Given the description of an element on the screen output the (x, y) to click on. 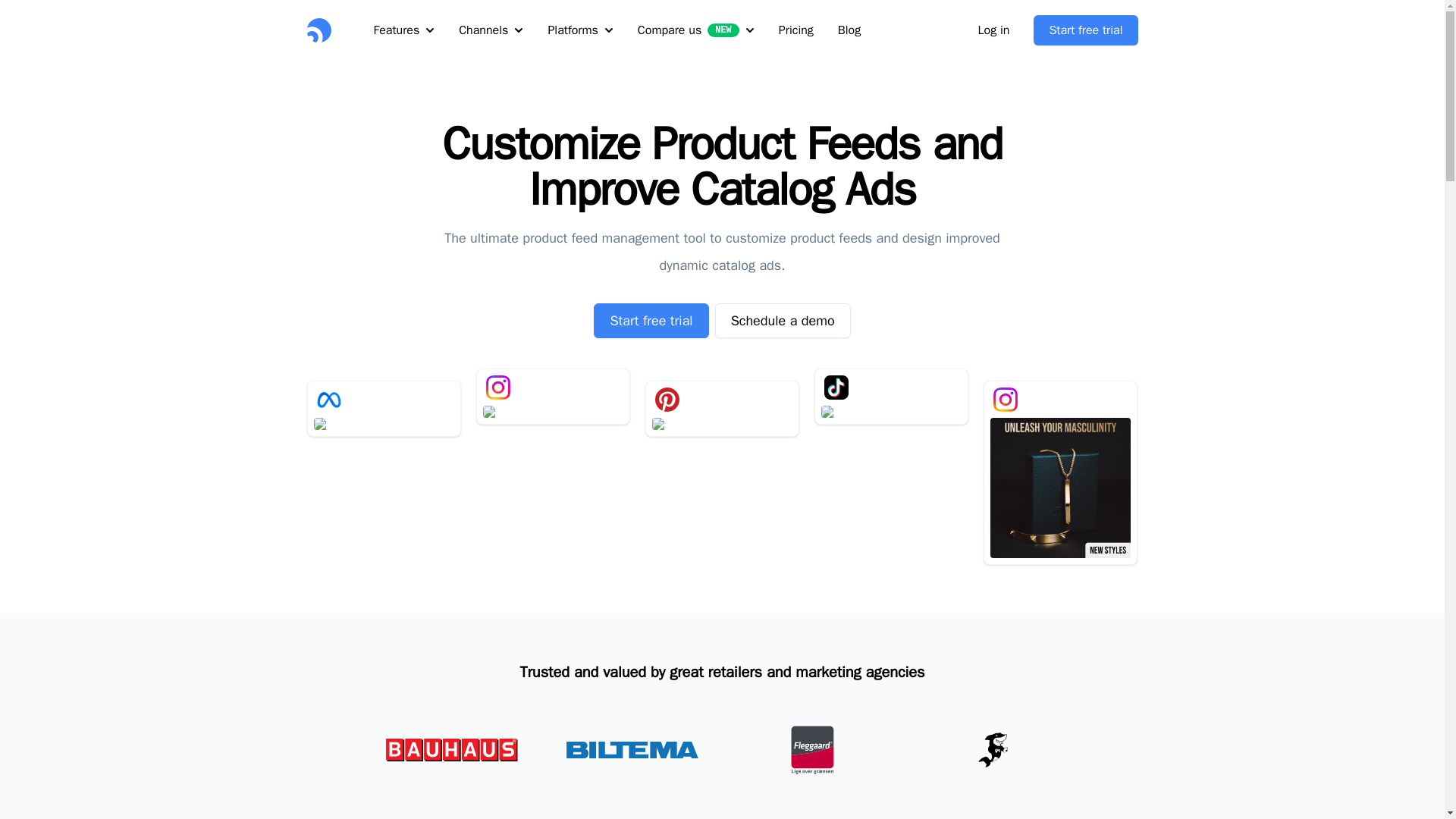
Start free trial (650, 320)
Schedule a demo (782, 320)
Start free trial (1085, 30)
